Given the description of an element on the screen output the (x, y) to click on. 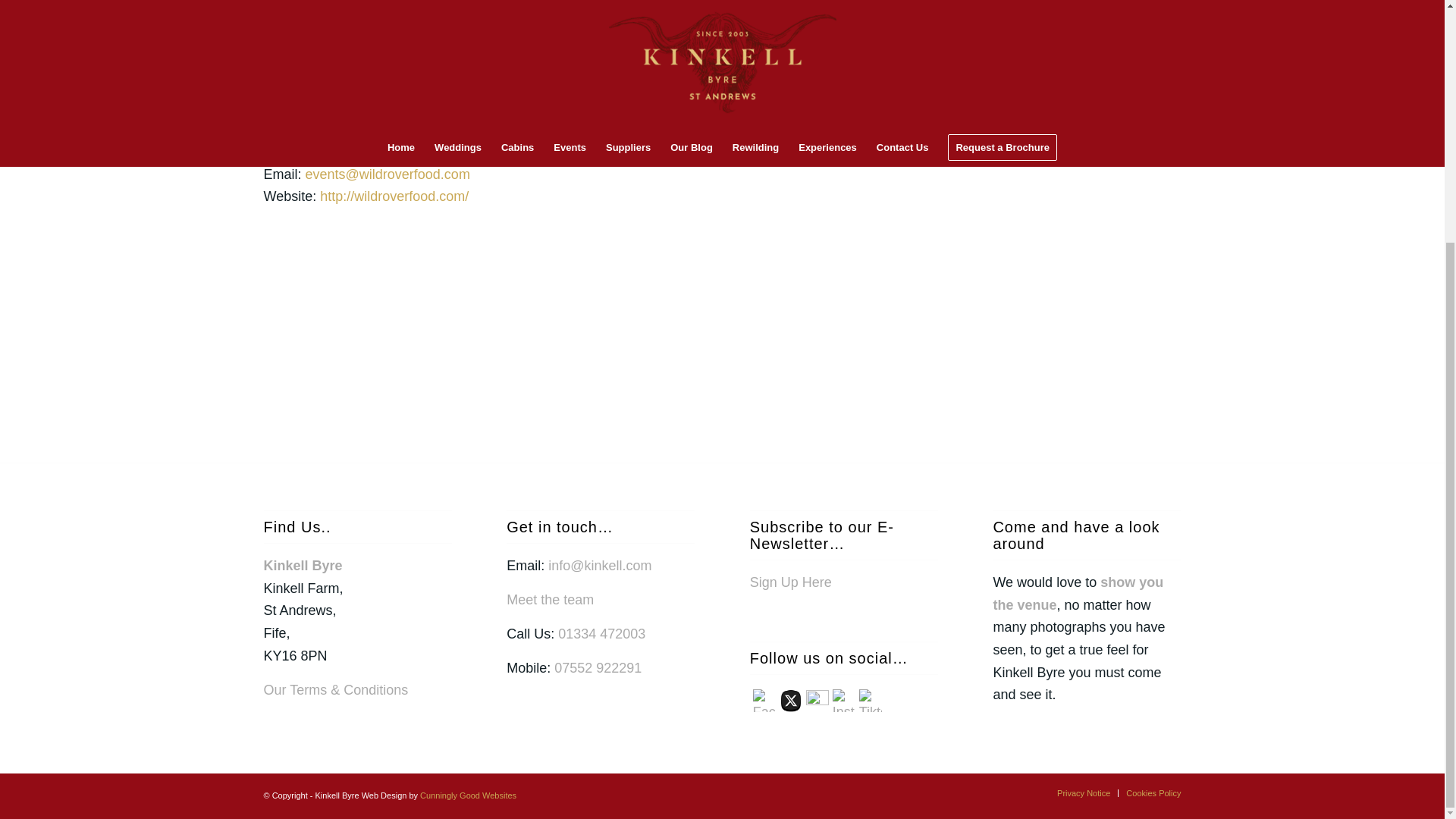
image001 (644, 340)
01334 472003 (601, 633)
Kinkell Byre (302, 565)
Instagram (844, 700)
image004 (496, 346)
Meet the team (550, 599)
Facebook (764, 700)
show you the venue (1077, 593)
Tiktok (870, 700)
image003 (341, 346)
image004 (490, 340)
07552 922291 (598, 667)
Privacy Notice (1083, 792)
Cunningly Good Websites (468, 795)
Sign Up Here (790, 581)
